Given the description of an element on the screen output the (x, y) to click on. 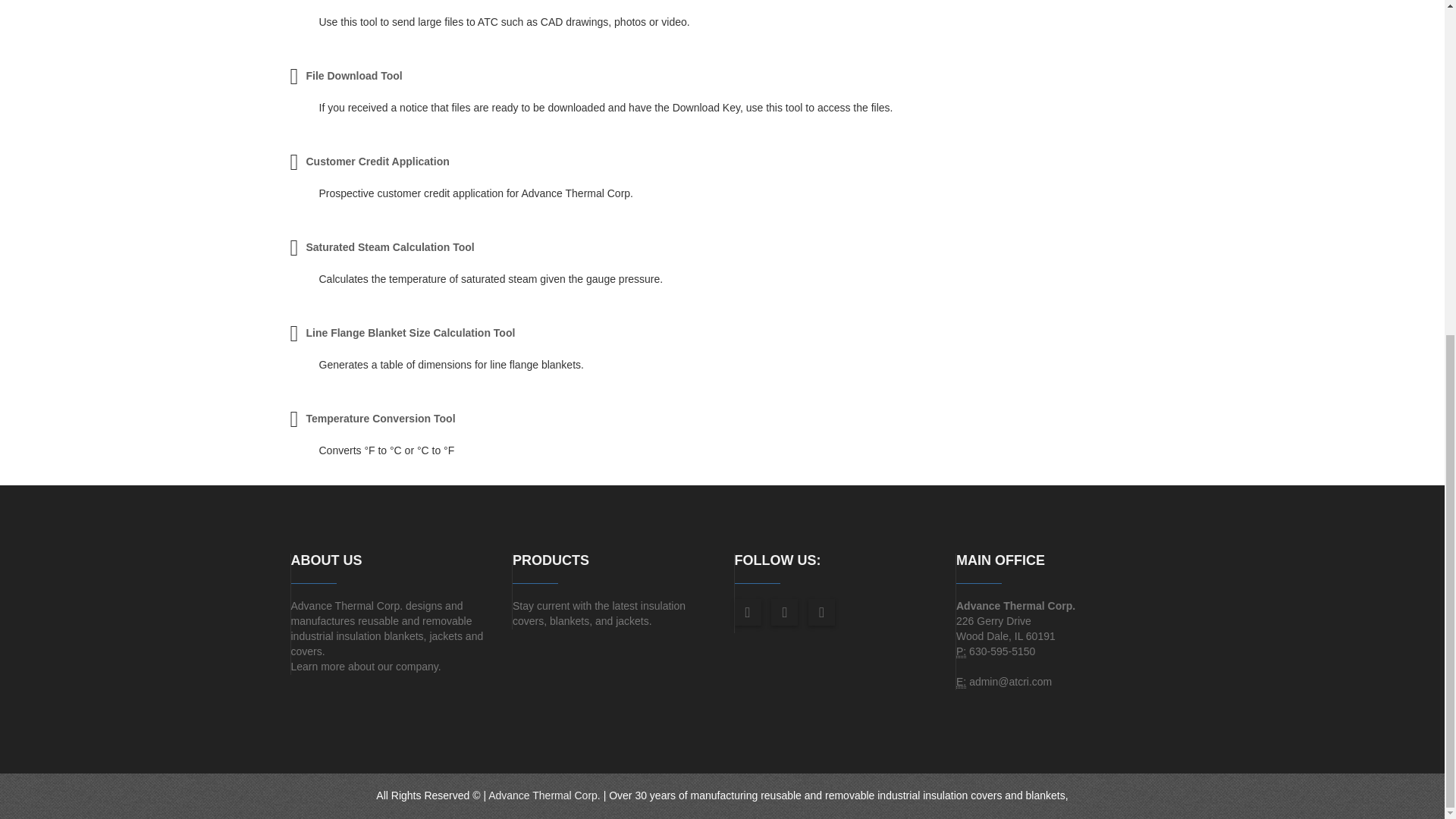
Line Flange Blanket Size Calculation Tool (410, 332)
Customer Credit Application (376, 161)
Temperature Conversion Tool (379, 418)
Advance Thermal Corp. (543, 795)
Saturated Steam Calculation Tool (389, 246)
Learn more about our company. (366, 666)
File Download Tool (353, 76)
